Given the description of an element on the screen output the (x, y) to click on. 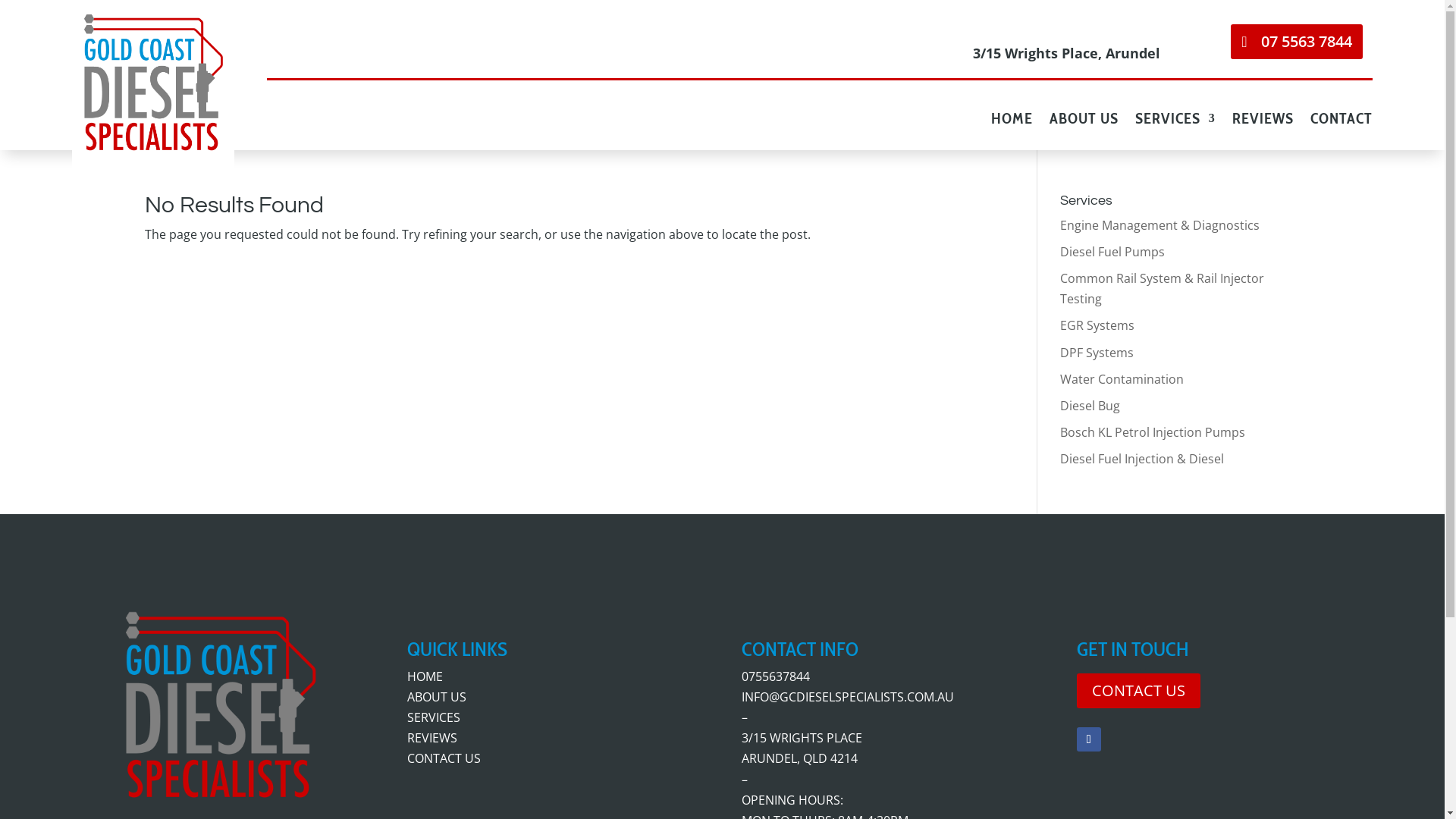
ABOUT US Element type: text (1083, 120)
REVIEWS Element type: text (1262, 120)
CONTACT US Element type: text (1138, 690)
07 5563 7844 Element type: text (1296, 41)
CONTACT Element type: text (1341, 120)
HOME Element type: text (424, 676)
SERVICES Element type: text (1175, 120)
Water Contamination Element type: text (1121, 378)
ABOUT US Element type: text (436, 696)
Diesel Fuel Injection & Diesel Element type: text (1141, 458)
Diesel Fuel Pumps Element type: text (1112, 251)
Bosch KL Petrol Injection Pumps Element type: text (1152, 431)
REVIEWS Element type: text (432, 737)
GCDS-Logo-Light Element type: hover (152, 86)
SERVICES Element type: text (433, 717)
DPF Systems Element type: text (1096, 352)
HOME Element type: text (1011, 120)
Engine Management & Diagnostics Element type: text (1159, 224)
Follow on Facebook Element type: hover (1088, 739)
CONTACT US Element type: text (443, 757)
Diesel Bug Element type: text (1090, 405)
EGR Systems Element type: text (1097, 324)
Common Rail System & Rail Injector Testing Element type: text (1162, 288)
